Given the description of an element on the screen output the (x, y) to click on. 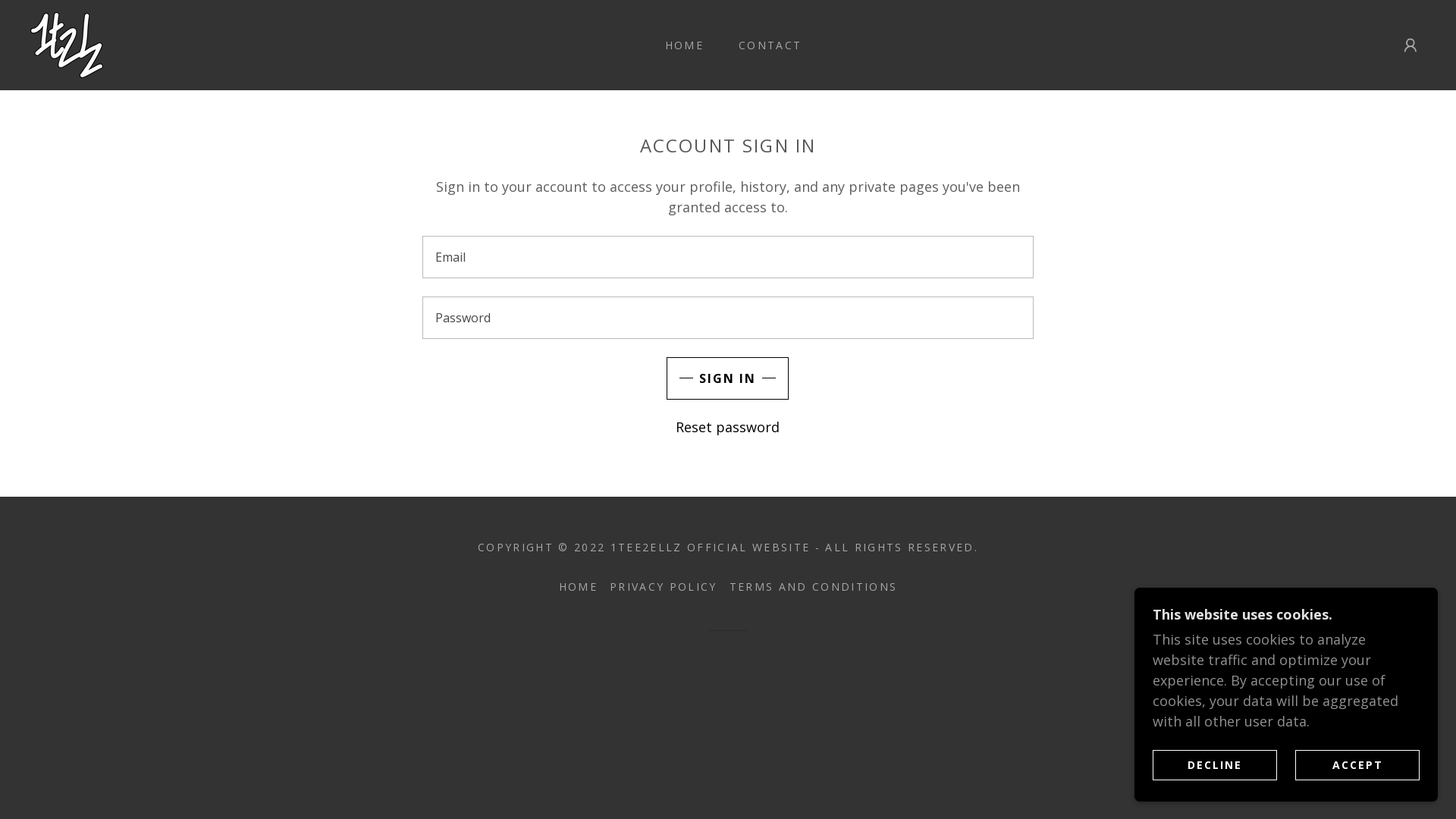
HOME Element type: text (577, 586)
DECLINE Element type: text (1214, 764)
TERMS AND CONDITIONS Element type: text (813, 586)
Reset password Element type: text (727, 426)
PRIVACY POLICY Element type: text (663, 586)
1tee2ellz Official Website Element type: hover (66, 43)
ACCEPT Element type: text (1357, 764)
HOME Element type: text (678, 45)
SIGN IN Element type: text (727, 378)
CONTACT Element type: text (764, 45)
